Given the description of an element on the screen output the (x, y) to click on. 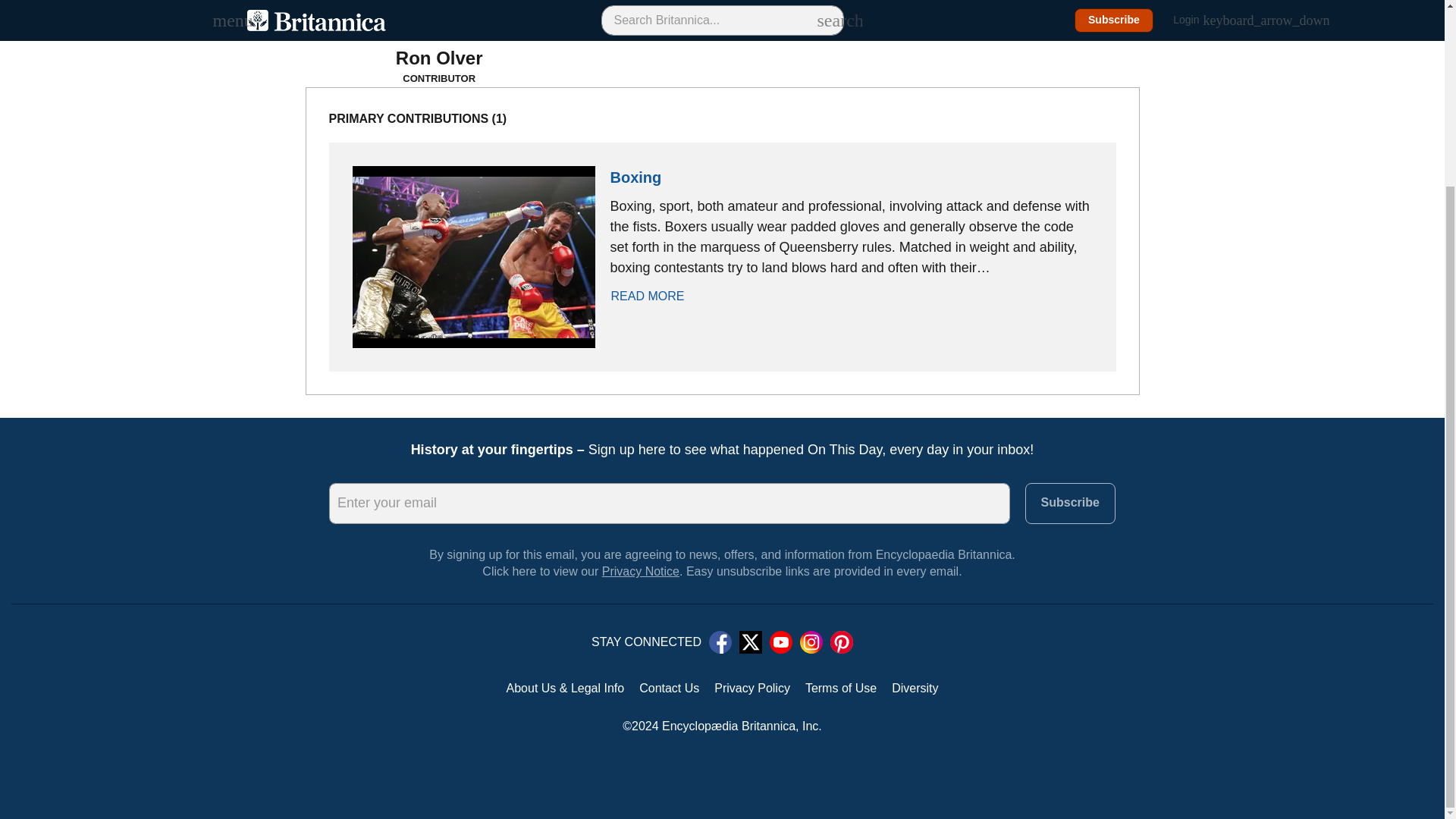
Privacy Policy (751, 688)
Diversity (913, 688)
Contact Us (668, 688)
Terms of Use (840, 688)
READ MORE (655, 296)
Privacy Notice (640, 571)
boxing (635, 176)
Subscribe (1070, 503)
